Given the description of an element on the screen output the (x, y) to click on. 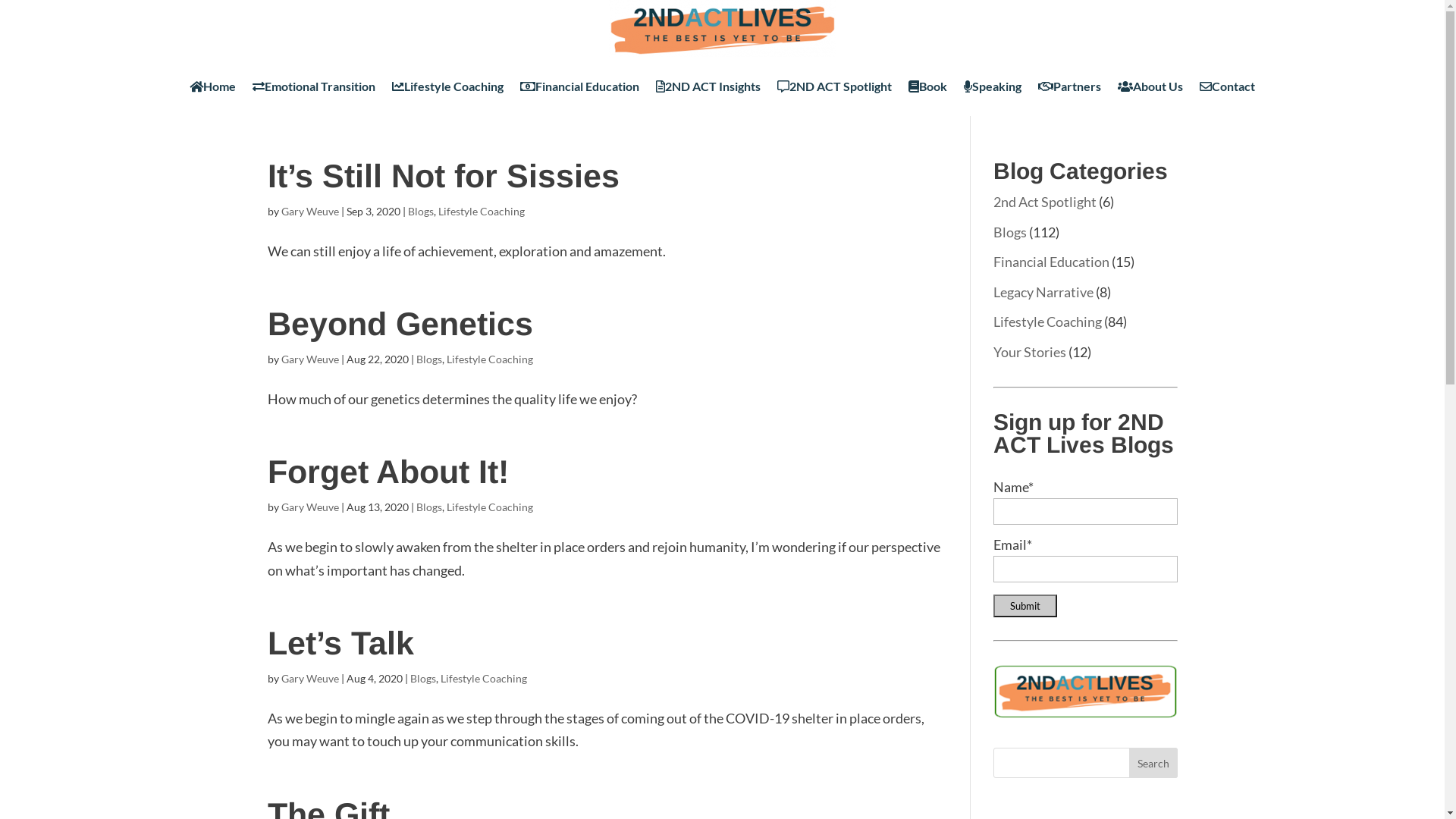
Beyond Genetics Element type: text (399, 323)
Lifestyle Coaching Element type: text (488, 506)
Search Element type: text (1153, 762)
Partners Element type: text (1069, 86)
Lifestyle Coaching Element type: text (481, 210)
Lifestyle Coaching Element type: text (482, 677)
Forget About It! Element type: text (387, 471)
2ND ACT Insights Element type: text (707, 86)
Book Element type: text (927, 86)
Financial Education Element type: text (1051, 261)
Lifestyle Coaching Element type: text (1047, 321)
Contact Element type: text (1227, 86)
Gary Weuve Element type: text (309, 677)
Home Element type: text (212, 86)
2nd Act Spotlight Element type: text (1044, 201)
Lifestyle Coaching Element type: text (488, 358)
Your Stories Element type: text (1029, 351)
Blogs Element type: text (428, 358)
Legacy Narrative Element type: text (1043, 291)
Gary Weuve Element type: text (309, 210)
Blogs Element type: text (422, 677)
2ND ACT Spotlight Element type: text (834, 86)
Submit Element type: text (1025, 605)
Blogs Element type: text (420, 210)
Speaking Element type: text (992, 86)
Gary Weuve Element type: text (309, 358)
Blogs Element type: text (1009, 231)
Emotional Transition Element type: text (313, 86)
Blogs Element type: text (428, 506)
Lifestyle Coaching Element type: text (447, 86)
About Us Element type: text (1150, 86)
Financial Education Element type: text (579, 86)
Gary Weuve Element type: text (309, 506)
